Given the description of an element on the screen output the (x, y) to click on. 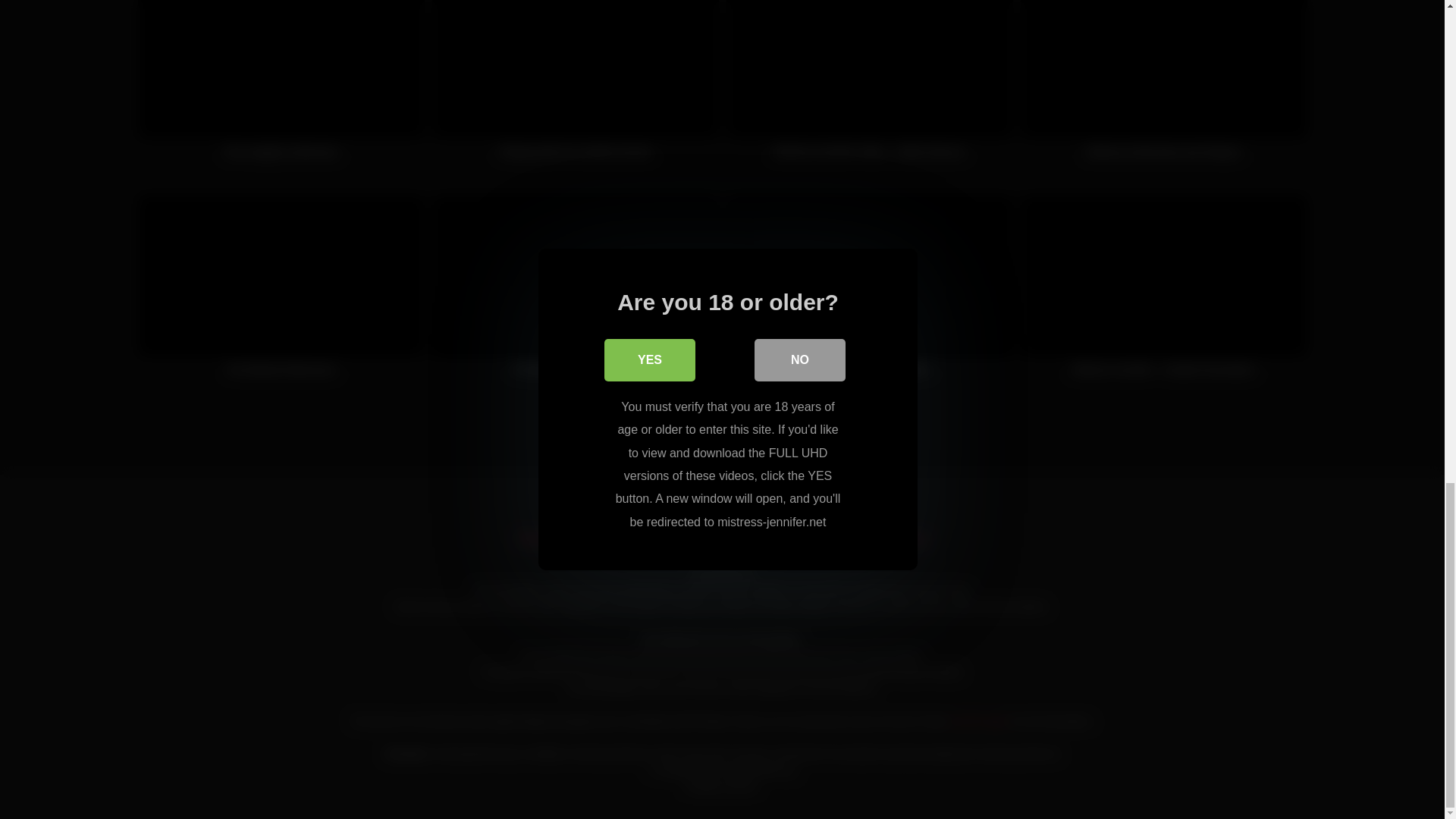
Terms and Conditions (740, 538)
2257 (840, 538)
Privacy Policy (615, 538)
Sitemap (903, 538)
Mistress Emily Boot and Strapon (1163, 88)
Playing with her humble servant (575, 88)
read this page (978, 720)
Mistress Emily Boot and Strapon (1163, 88)
Two naughty mistresses (281, 88)
Home (534, 538)
Two naughty mistresses (281, 88)
Two Blonde Mistresses (281, 293)
Professors Of Punishment (575, 293)
Playing with her humble servant (575, 88)
Professors Of Punishment (575, 293)
